Given the description of an element on the screen output the (x, y) to click on. 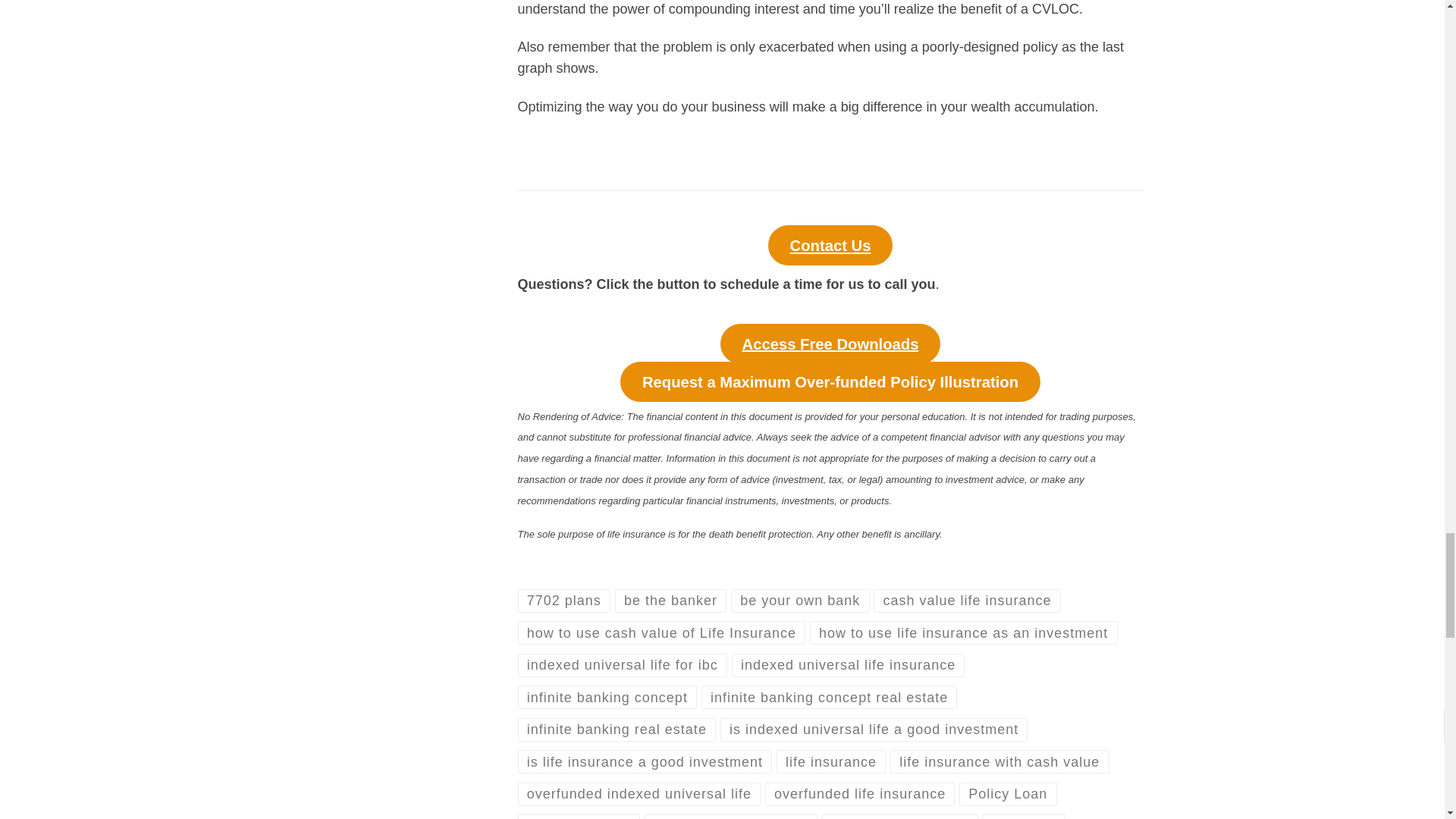
View all posts in 7702 plans (563, 600)
View all posts in how to use cash value of Life Insurance (660, 632)
View all posts in be your own bank (799, 600)
View all posts in be the banker (670, 600)
View all posts in how to use life insurance as an investment (963, 632)
View all posts in cash value life insurance (967, 600)
